Given the description of an element on the screen output the (x, y) to click on. 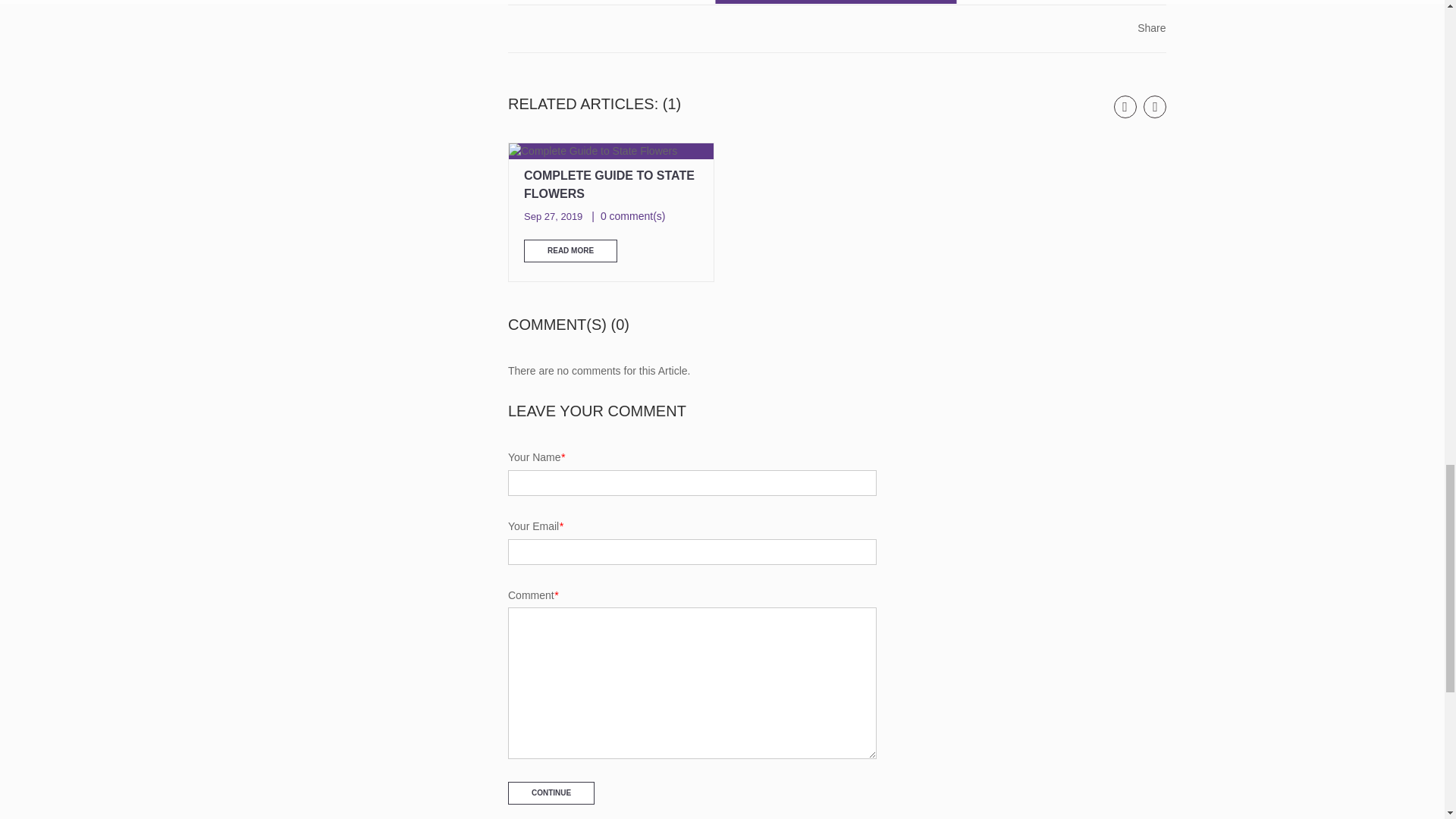
prev (1125, 106)
Comment (692, 683)
Complete Guide to State Flowers (610, 151)
next (1154, 106)
Email (692, 551)
Name (692, 483)
